Given the description of an element on the screen output the (x, y) to click on. 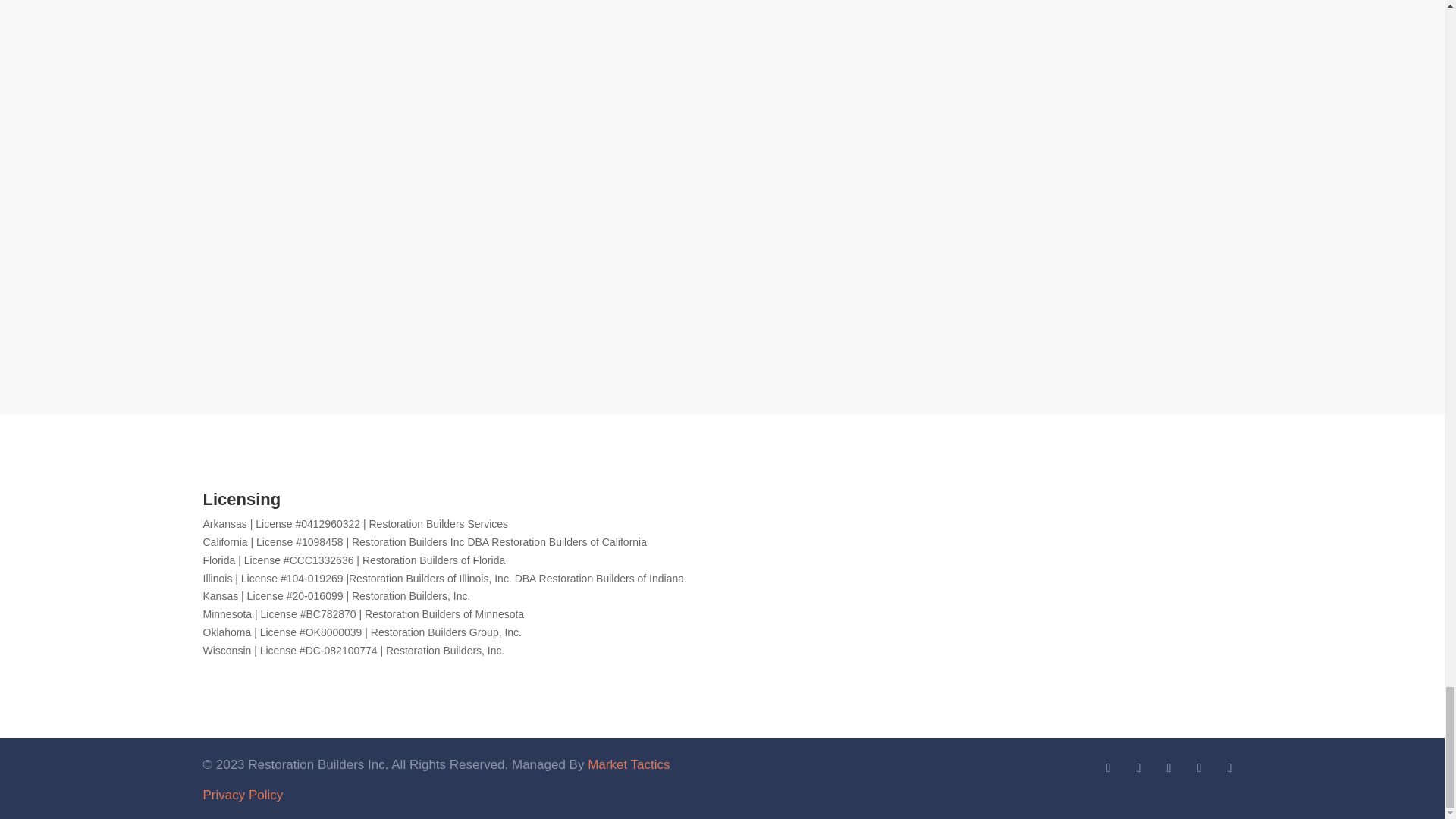
Follow on X (1137, 767)
Follow on Youtube (1198, 767)
Follow on Facebook (1168, 767)
Follow on Instagram (1229, 767)
Follow on LinkedIn (1107, 767)
